Given the description of an element on the screen output the (x, y) to click on. 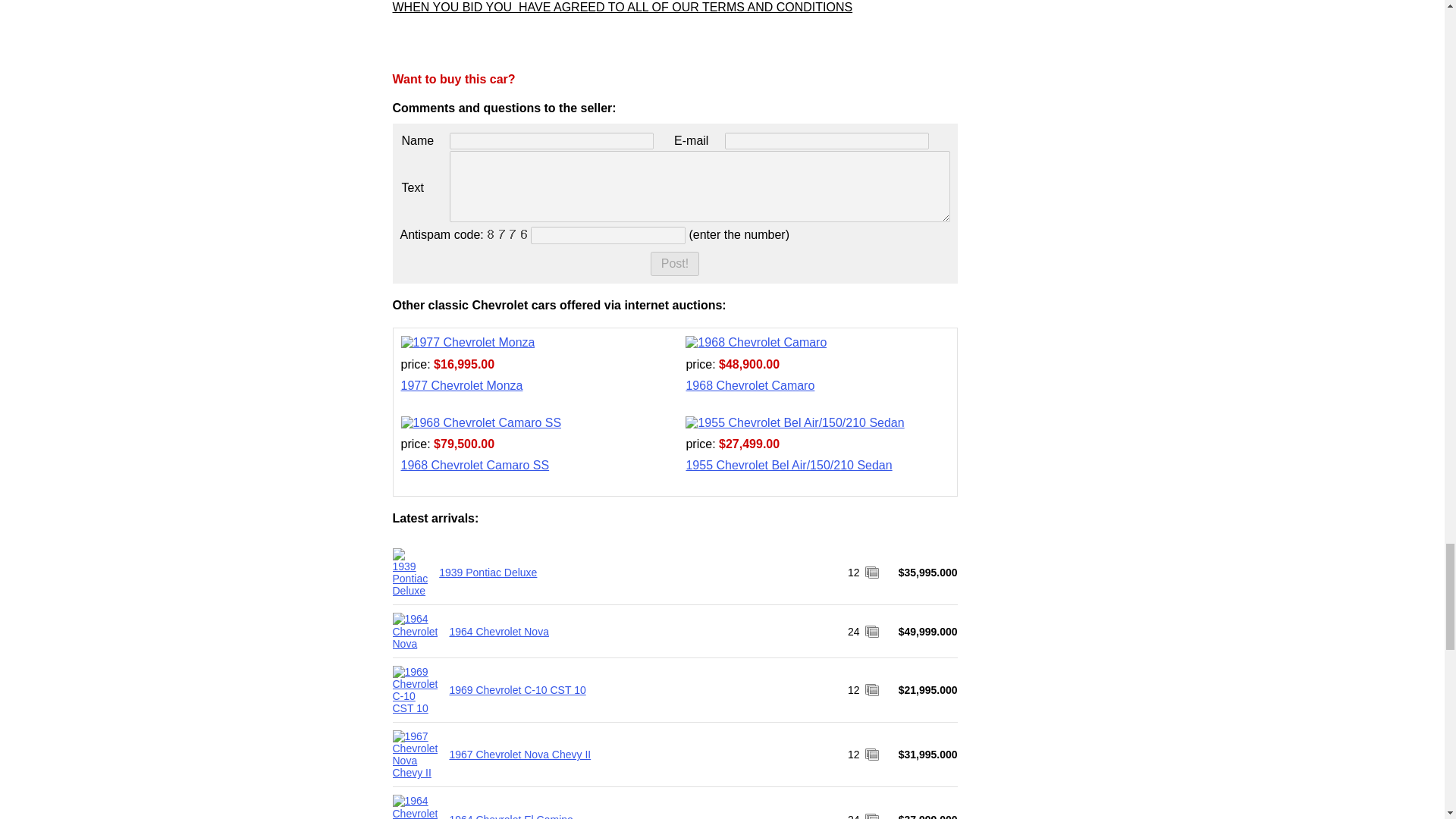
Name (551, 140)
Email (826, 140)
Post! (674, 263)
Message (699, 185)
Anrtispam code (608, 234)
